Given the description of an element on the screen output the (x, y) to click on. 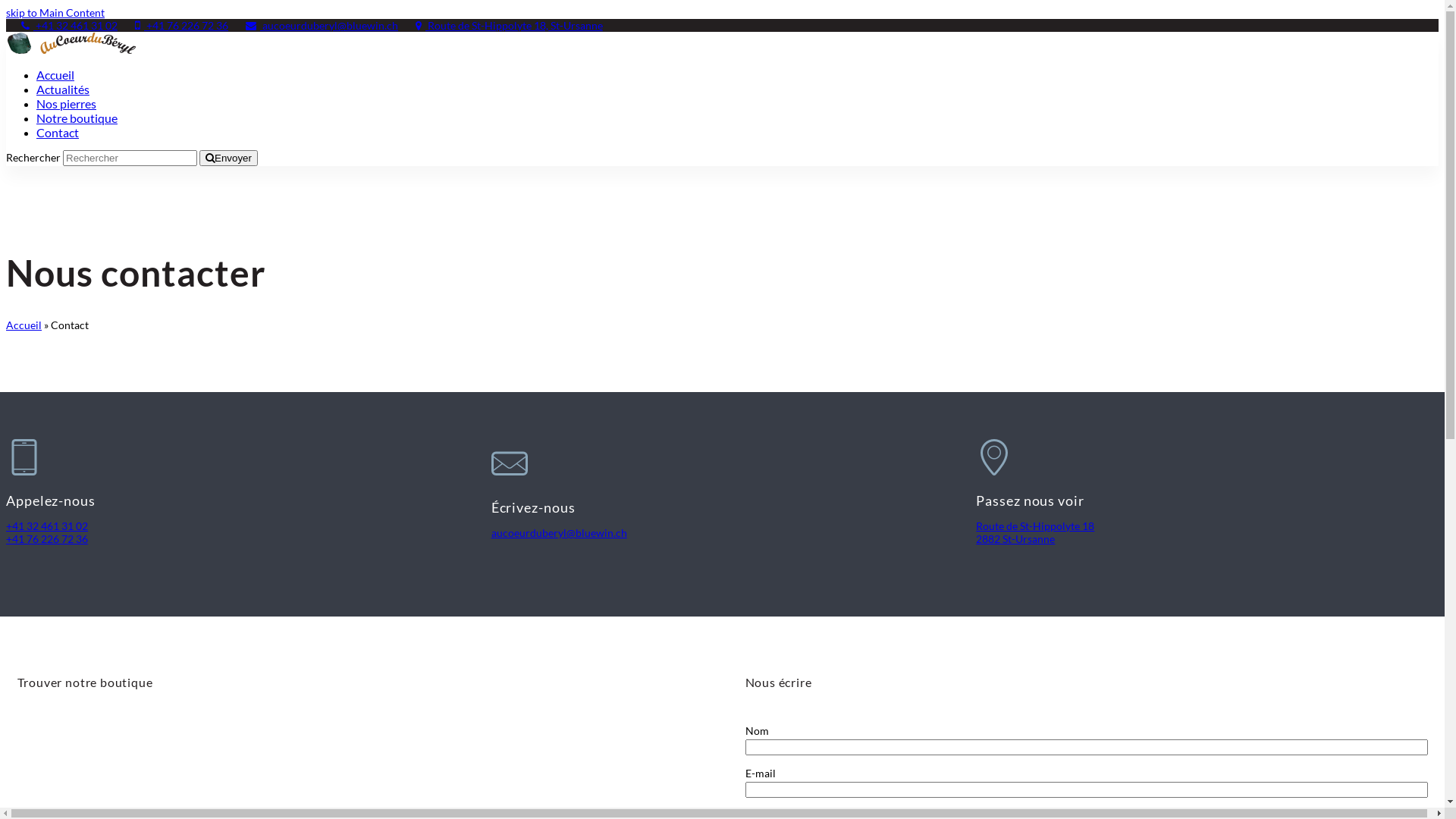
aucoeurduberyl@bluewin.ch Element type: text (314, 24)
+41 32 461 31 02 Element type: text (46, 525)
Nos pierres Element type: text (66, 103)
+41 32 461 31 02 Element type: text (61, 24)
Accueil Element type: text (23, 324)
Contact Element type: text (57, 132)
skip to Main Content Element type: text (55, 12)
+41 76 226 72 36 Element type: text (173, 24)
Envoyer Element type: text (228, 158)
Notre boutique Element type: text (76, 118)
+41 76 226 72 36 Element type: text (46, 538)
Accueil Element type: text (55, 75)
aucoeurduberyl@bluewin.ch Element type: text (559, 532)
Route de St-Hippolyte 18
2882 St-Ursanne Element type: text (1034, 532)
